Given the description of an element on the screen output the (x, y) to click on. 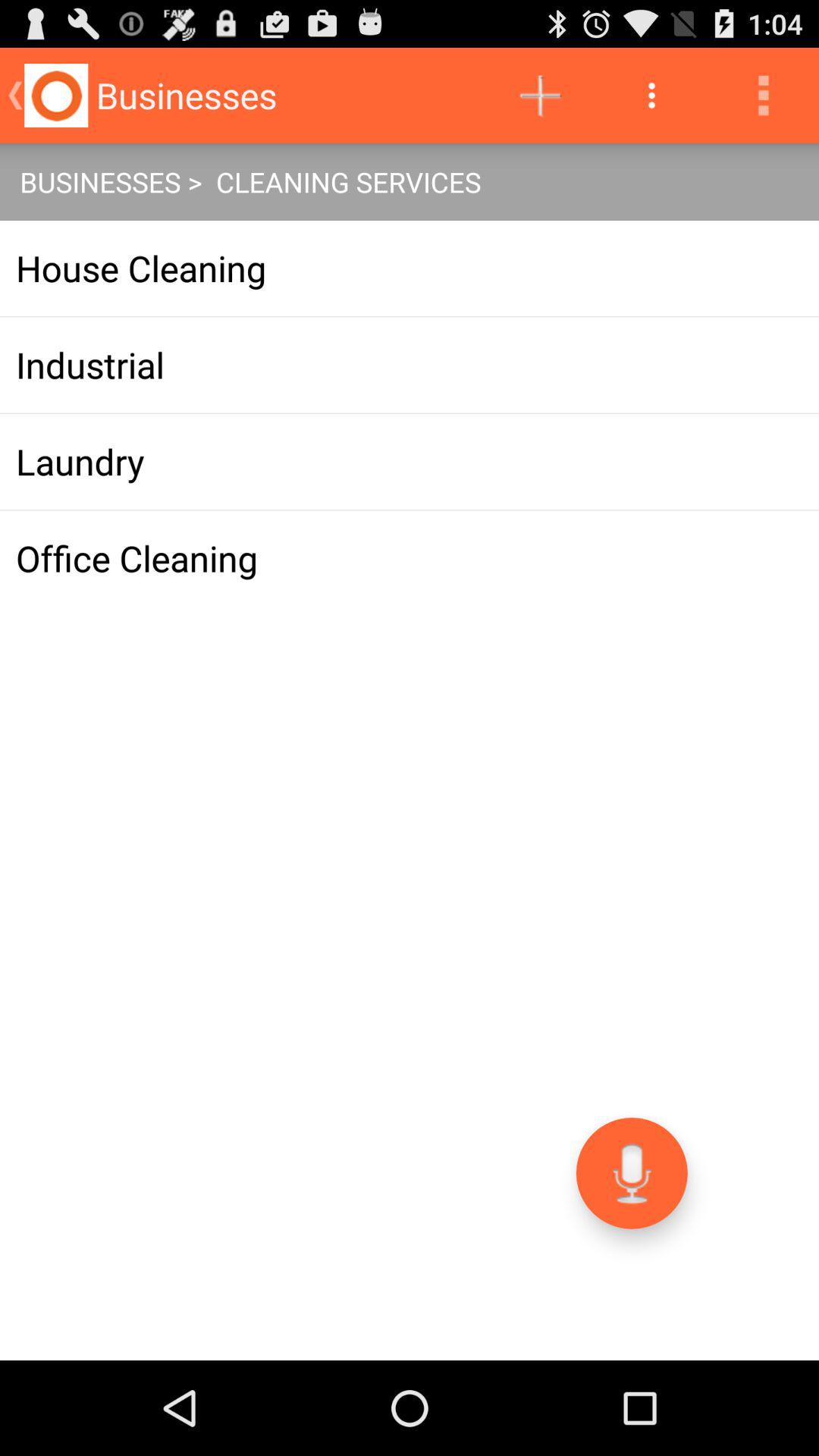
select app at the center (409, 558)
